Given the description of an element on the screen output the (x, y) to click on. 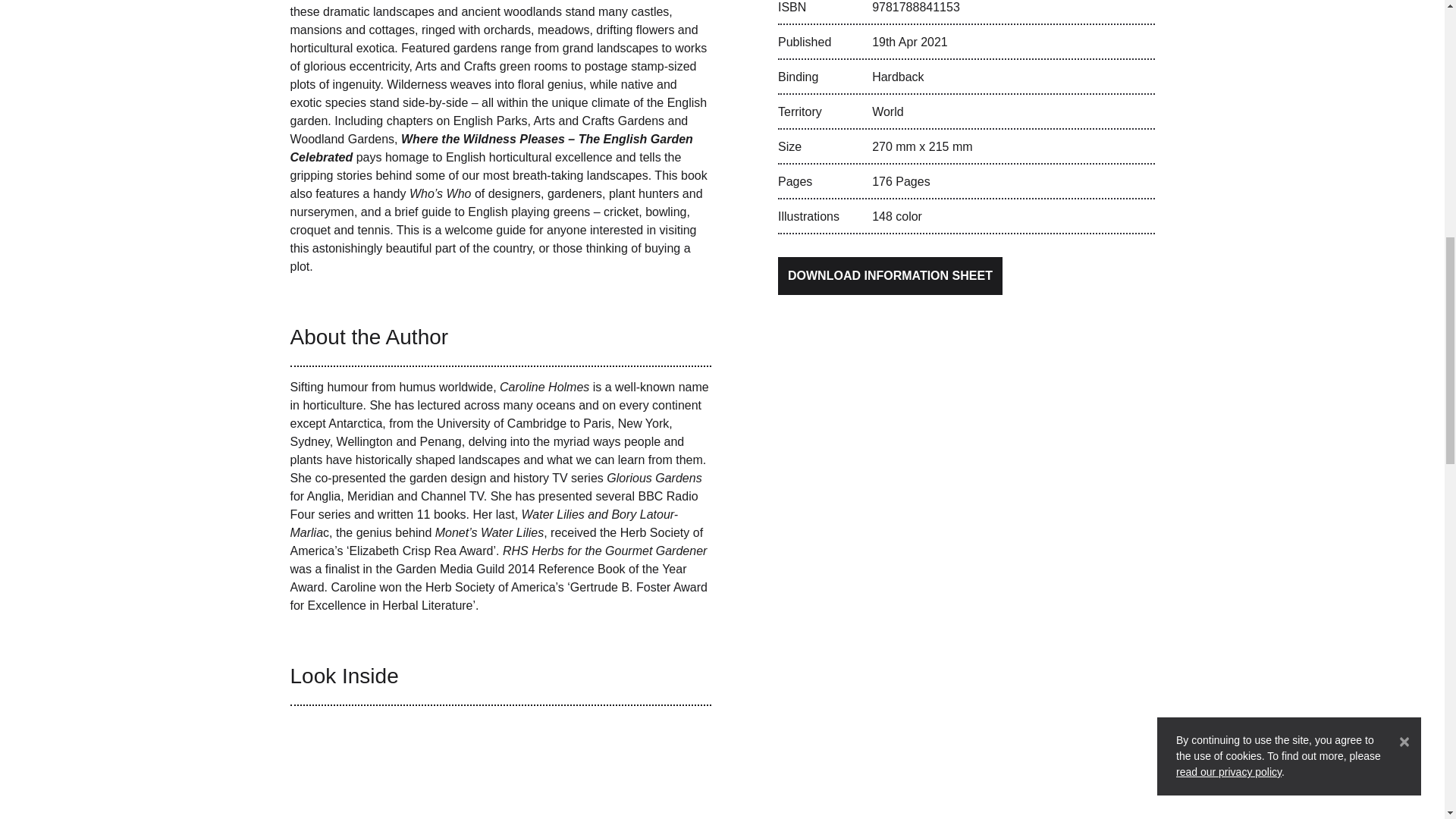
Look Inside: Where the Wildness Pleases (499, 773)
